Given the description of an element on the screen output the (x, y) to click on. 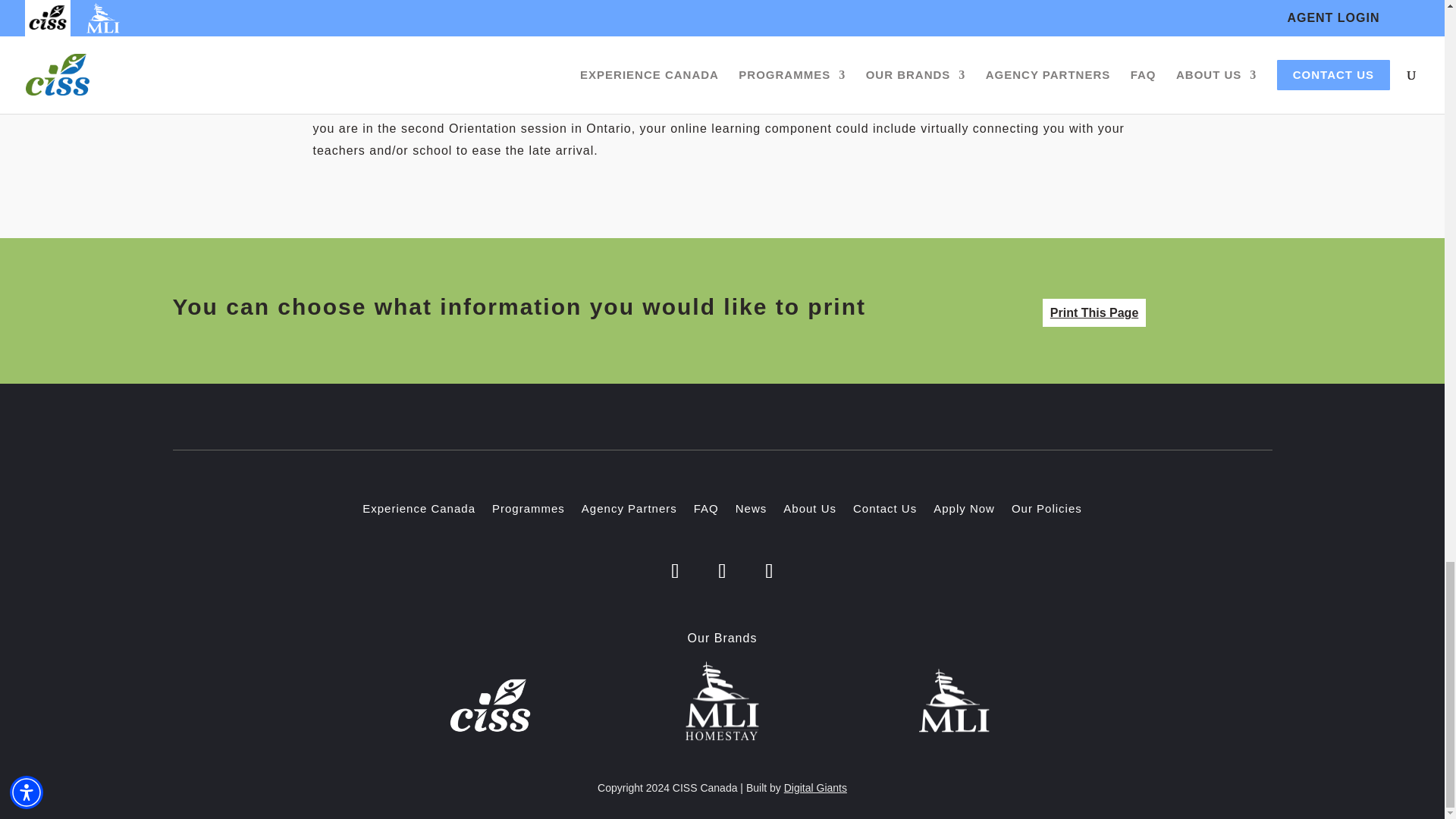
MLI (954, 700)
MLI Homestay (721, 700)
Follow on Instagram (721, 570)
Follow on Facebook (675, 570)
CISS White logo (490, 704)
Follow on Youtube (769, 570)
